Given the description of an element on the screen output the (x, y) to click on. 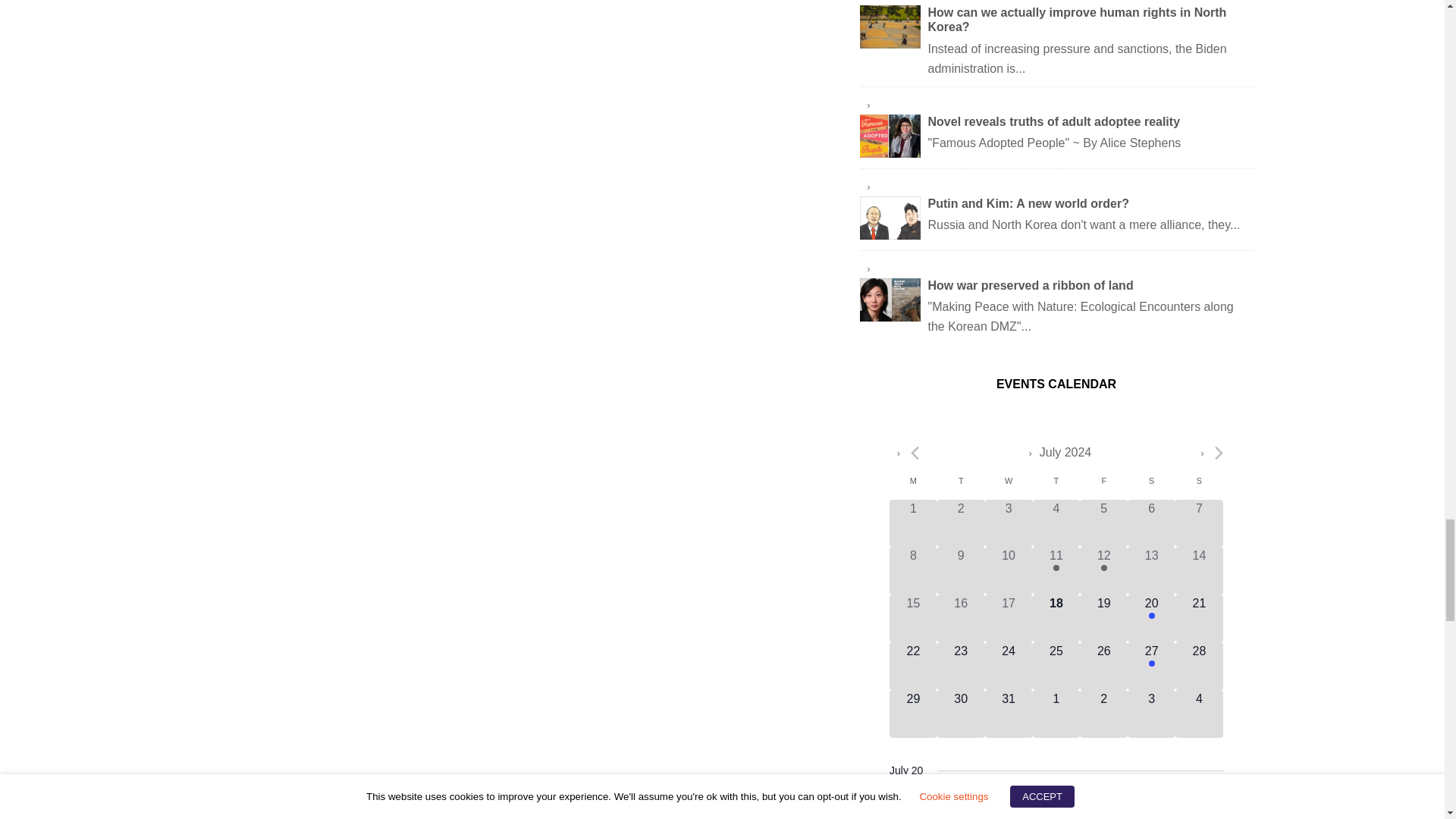
Has events (1151, 663)
Has events (1055, 567)
Has events (1151, 615)
Has events (1103, 567)
